Given the description of an element on the screen output the (x, y) to click on. 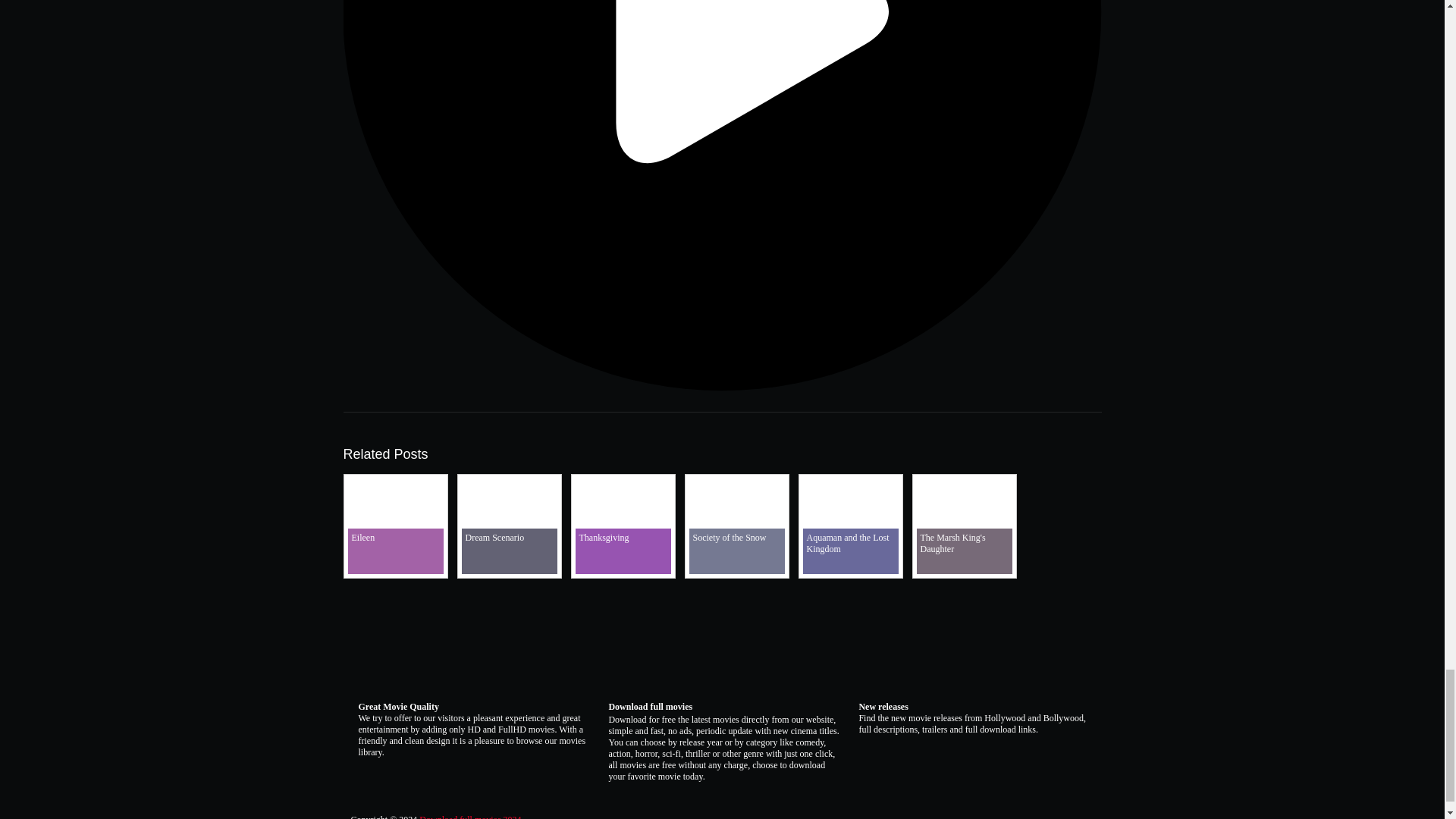
Download full movies 2024 (470, 816)
Permalink to Eileen (394, 570)
Permalink to Thanksgiving (622, 570)
Permalink to Dream Scenario (508, 570)
